Given the description of an element on the screen output the (x, y) to click on. 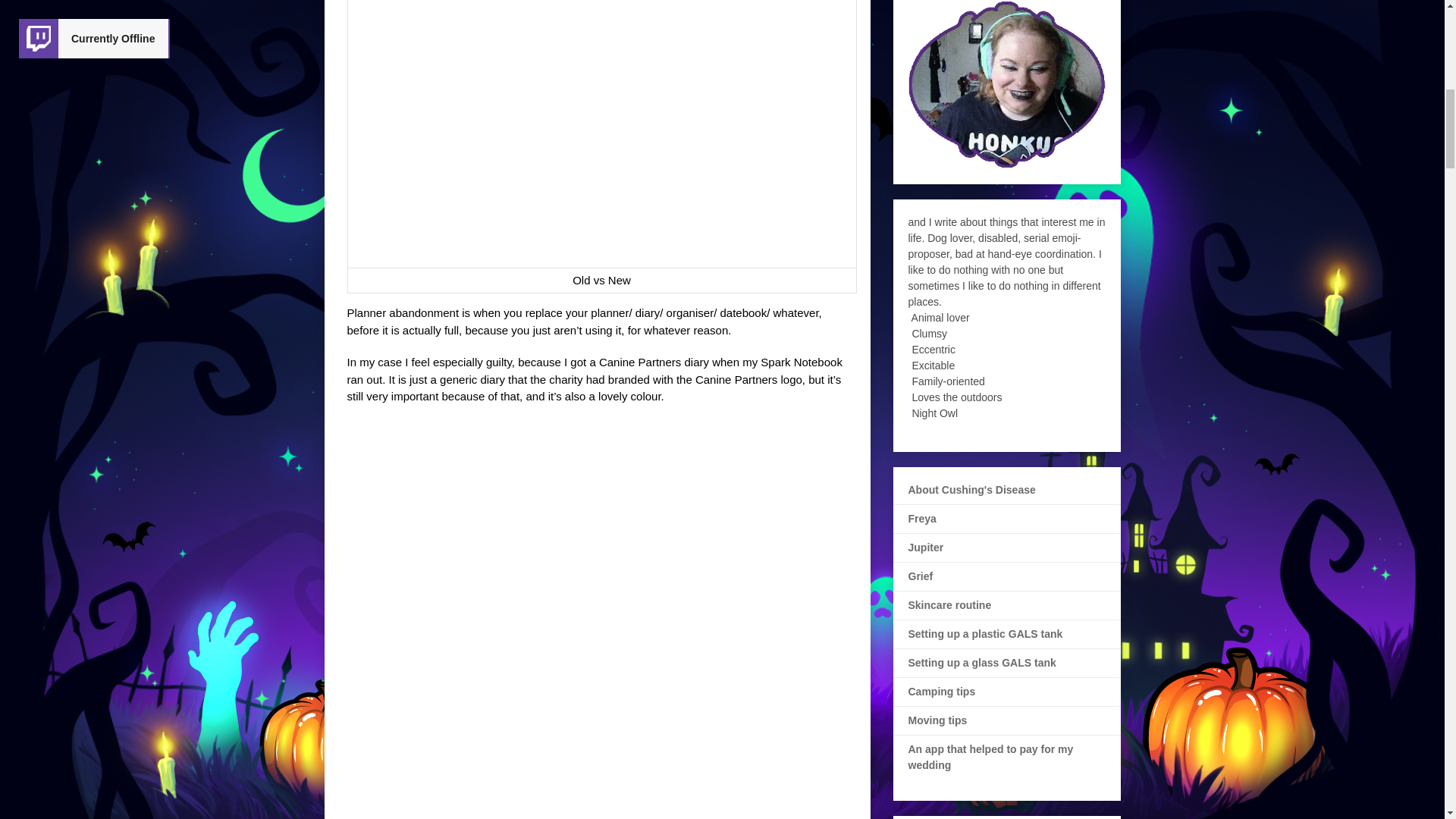
Jupiter (925, 547)
Camping tips (941, 691)
Setting up a plastic GALS tank (985, 633)
Skincare routine (949, 604)
Setting up a glass GALS tank (982, 662)
About Cushing's Disease (971, 490)
Freya (922, 518)
Grief (920, 576)
